Given the description of an element on the screen output the (x, y) to click on. 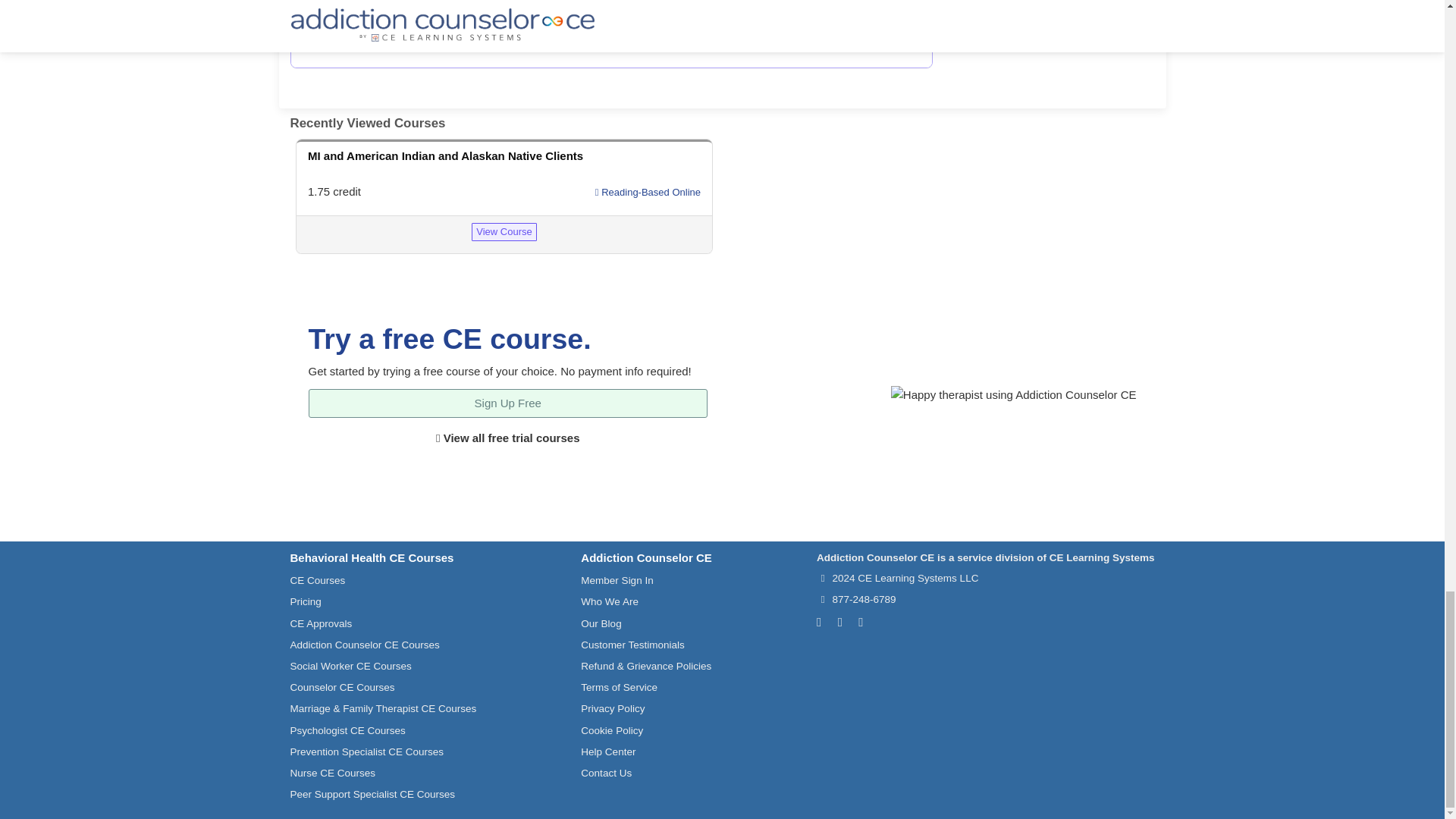
Help (386, 7)
Cookie Policy (611, 730)
View Course (503, 231)
Terms of Service (619, 686)
View all free trial courses (507, 437)
MI and American Indian and Alaskan Native Clients (445, 155)
CE Approvals (320, 623)
Refund and Grievance Policy (645, 665)
Pricing (304, 601)
Addiction Counselor CE Courses (364, 644)
